Given the description of an element on the screen output the (x, y) to click on. 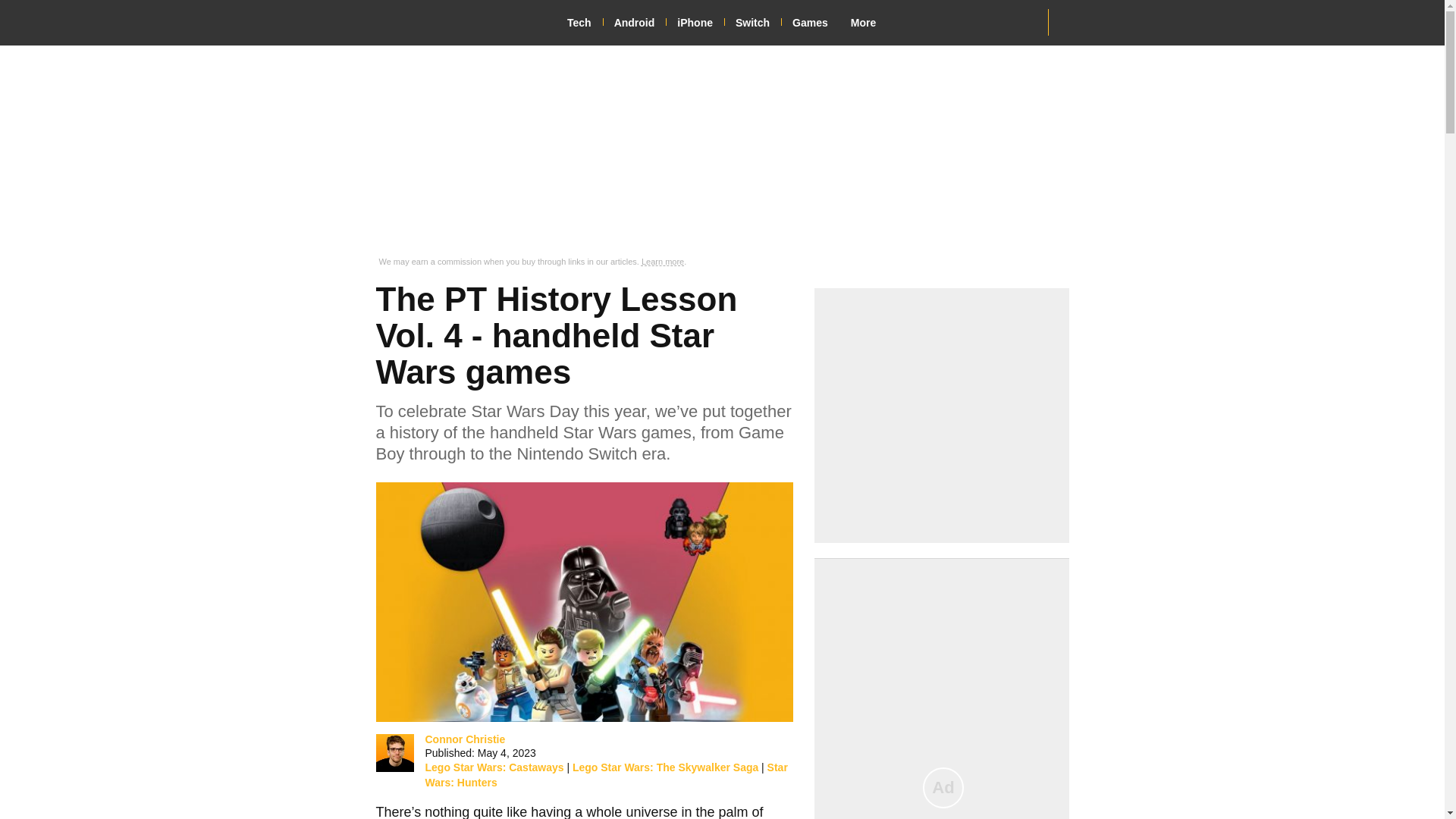
Android (640, 22)
Pocket Tactics (448, 22)
Lego Star Wars: Castaways (494, 767)
Games (816, 22)
Network N Media (1068, 22)
Learn more (663, 261)
The PT History Lesson Vol. 4 - handheld Star Wars games (584, 601)
Star Wars: Hunters (606, 774)
Switch (757, 22)
iPhone (700, 22)
